Given the description of an element on the screen output the (x, y) to click on. 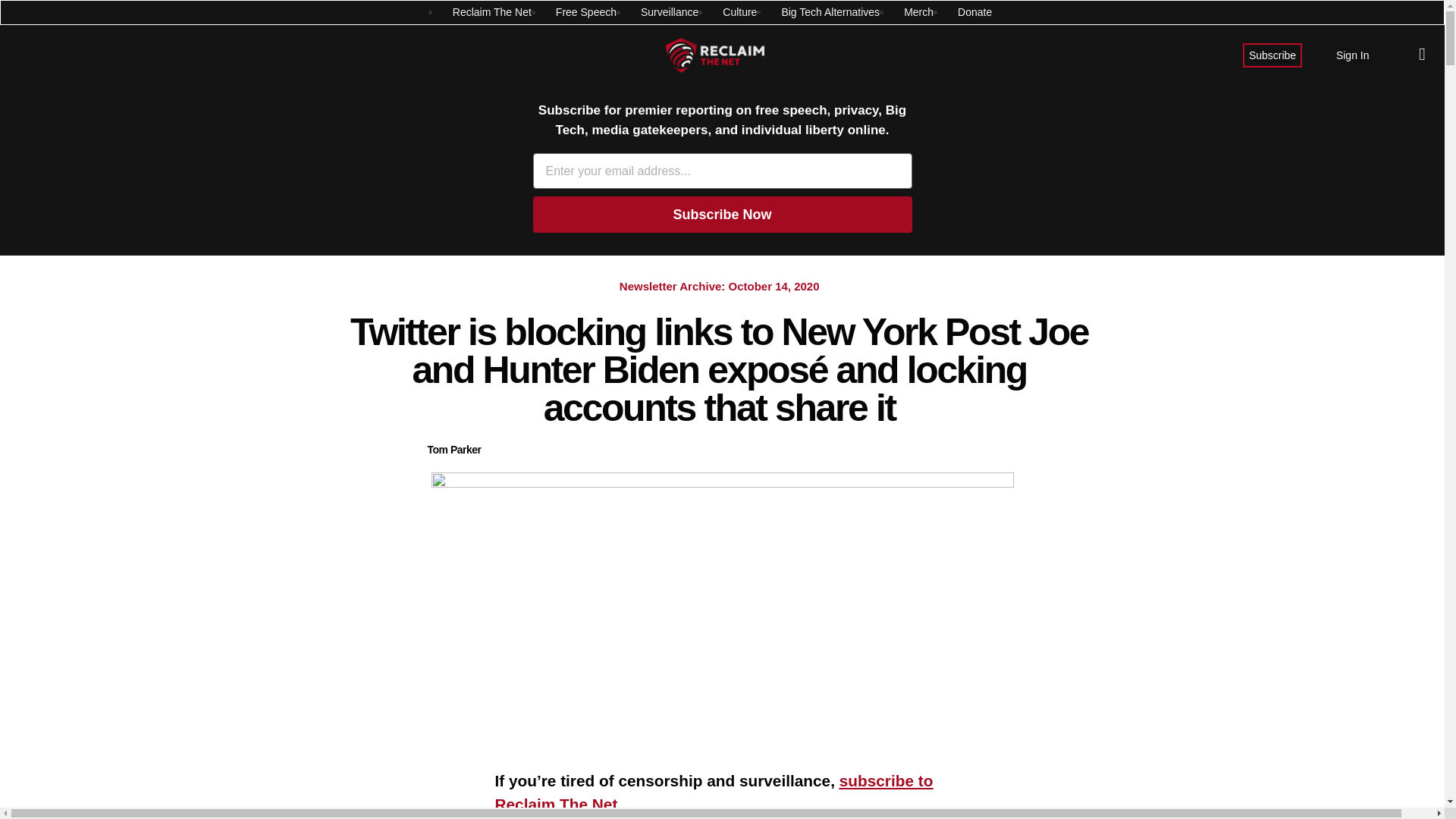
Tom Parker (454, 449)
Reclaim The Net (491, 12)
Surveillance (669, 12)
Subscribe (1272, 55)
Sign In (1353, 55)
Big Tech Alternatives (829, 12)
Donate (974, 12)
Merch (918, 12)
subscribe to Reclaim The Net. (714, 792)
Free Speech (585, 12)
Subscribe Now (721, 214)
Culture (739, 12)
